Given the description of an element on the screen output the (x, y) to click on. 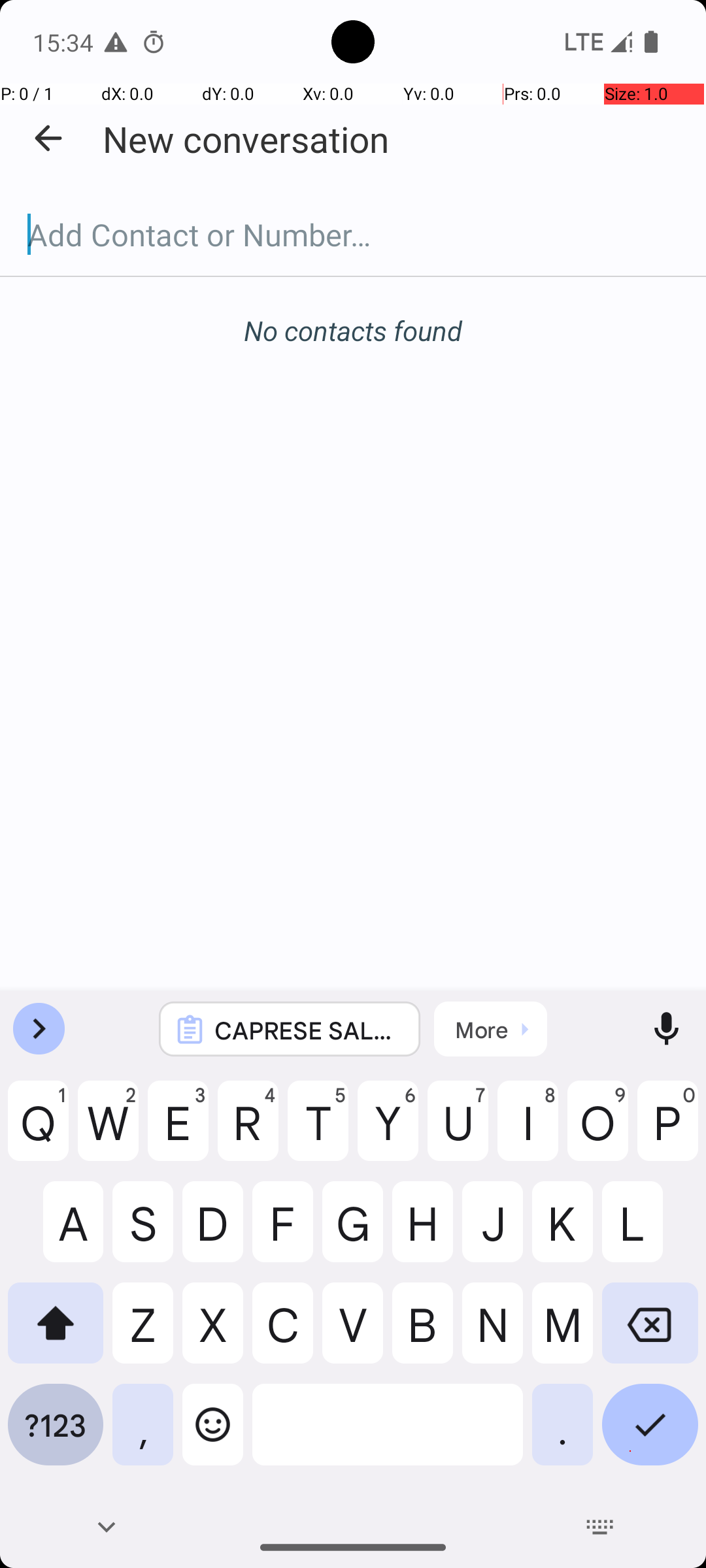
New conversation Element type: android.widget.TextView (245, 138)
Add Contact or Number… Element type: android.widget.EditText (352, 234)
No contacts found Element type: android.widget.TextView (353, 329)
CAPRESE SALAD SKEWERS  Servings: 1 serving Time: 45 mins  A quick and easy meal, perfect for busy weekdays.  Ingredients: - n/a  Directions: 1. Thread cherry tomatoes, basil leaves, and mozzarella balls onto skewers. Drizzle with balsamic glaze. Feel free to substitute with ingredients you have on hand.  Shared with https://play.google.com/store/apps/details?id=com.flauschcode.broccoli Element type: android.widget.TextView (306, 1029)
